Given the description of an element on the screen output the (x, y) to click on. 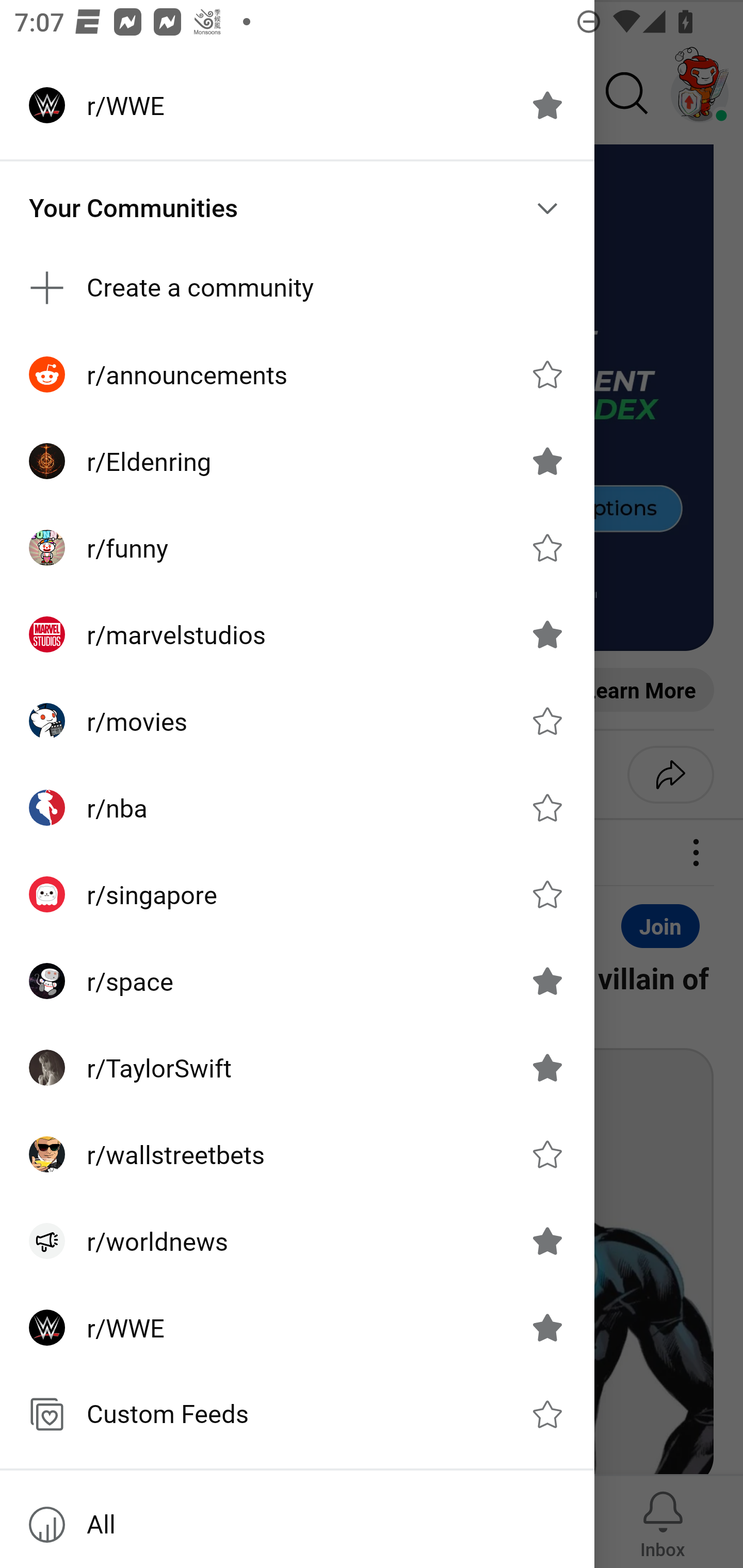
r/WWE Unfavorite r/WWE (297, 104)
Unfavorite r/WWE (546, 104)
Your Communities (297, 208)
Create a community (297, 287)
r/announcements Favorite r/announcements (297, 373)
Favorite r/announcements (546, 373)
r/Eldenring Unfavorite r/Eldenring (297, 460)
Unfavorite r/Eldenring (546, 460)
r/funny Favorite r/funny (297, 547)
Favorite r/funny (546, 548)
r/marvelstudios Unfavorite r/marvelstudios (297, 634)
Unfavorite r/marvelstudios (546, 634)
r/movies Favorite r/movies (297, 721)
Favorite r/movies (546, 721)
r/nba Favorite r/nba (297, 808)
Favorite r/nba (546, 807)
r/singapore Favorite r/singapore (297, 894)
Favorite r/singapore (546, 894)
r/space Unfavorite r/space (297, 980)
Unfavorite r/space (546, 980)
r/TaylorSwift Unfavorite r/TaylorSwift (297, 1067)
Unfavorite r/TaylorSwift (546, 1067)
r/wallstreetbets Favorite r/wallstreetbets (297, 1154)
Favorite r/wallstreetbets (546, 1154)
r/worldnews Unfavorite r/worldnews (297, 1240)
Unfavorite r/worldnews (546, 1241)
r/WWE Unfavorite r/WWE (297, 1327)
Unfavorite r/WWE (546, 1327)
Custom Feeds (297, 1414)
All (297, 1524)
